Given the description of an element on the screen output the (x, y) to click on. 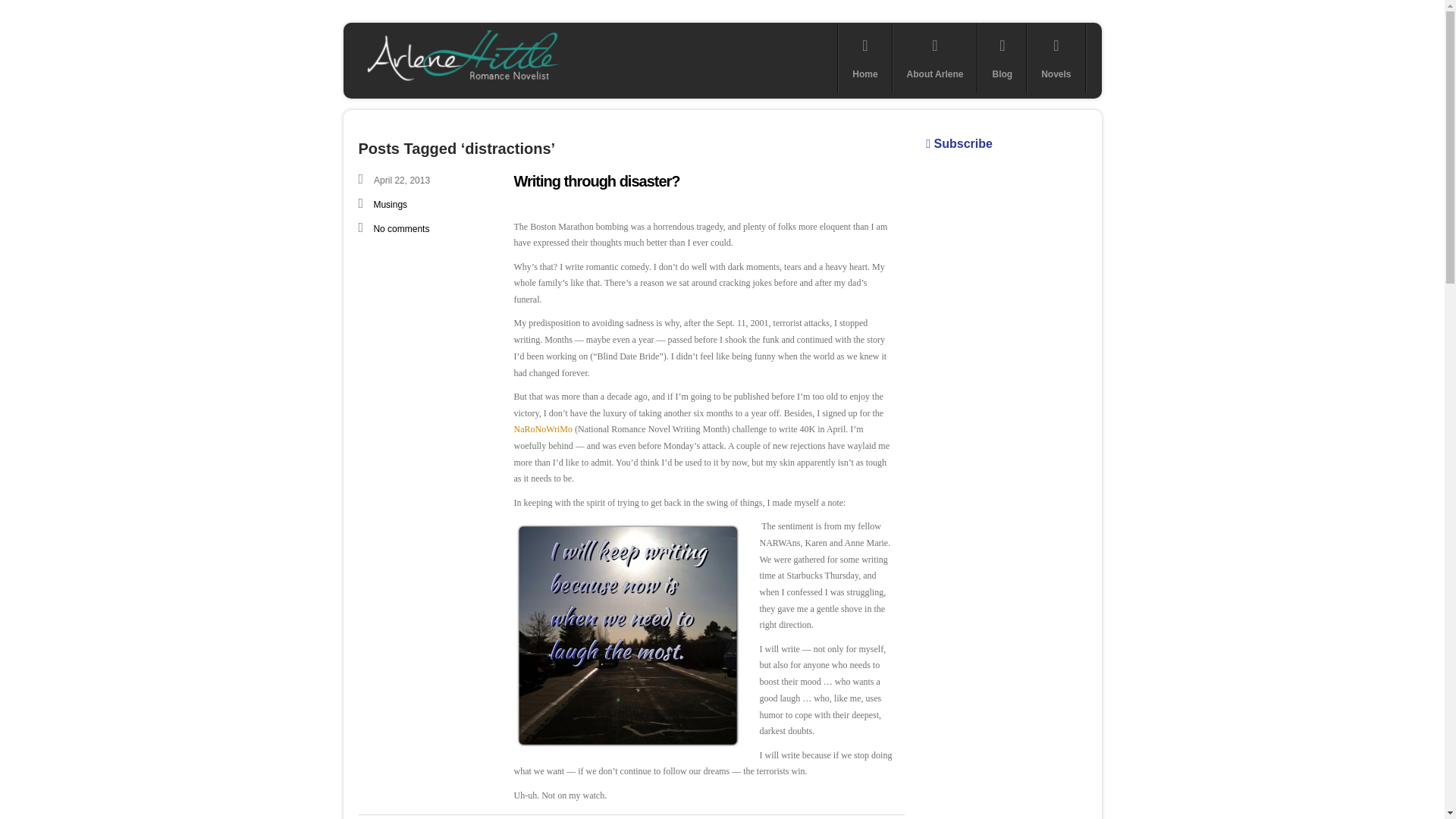
Musings (389, 204)
NaRoNoWriMo (543, 429)
Writing through disaster? (596, 180)
About Arlene (935, 57)
Keep Writing (627, 635)
No comments (400, 228)
Arlene Hittle (460, 83)
